Given the description of an element on the screen output the (x, y) to click on. 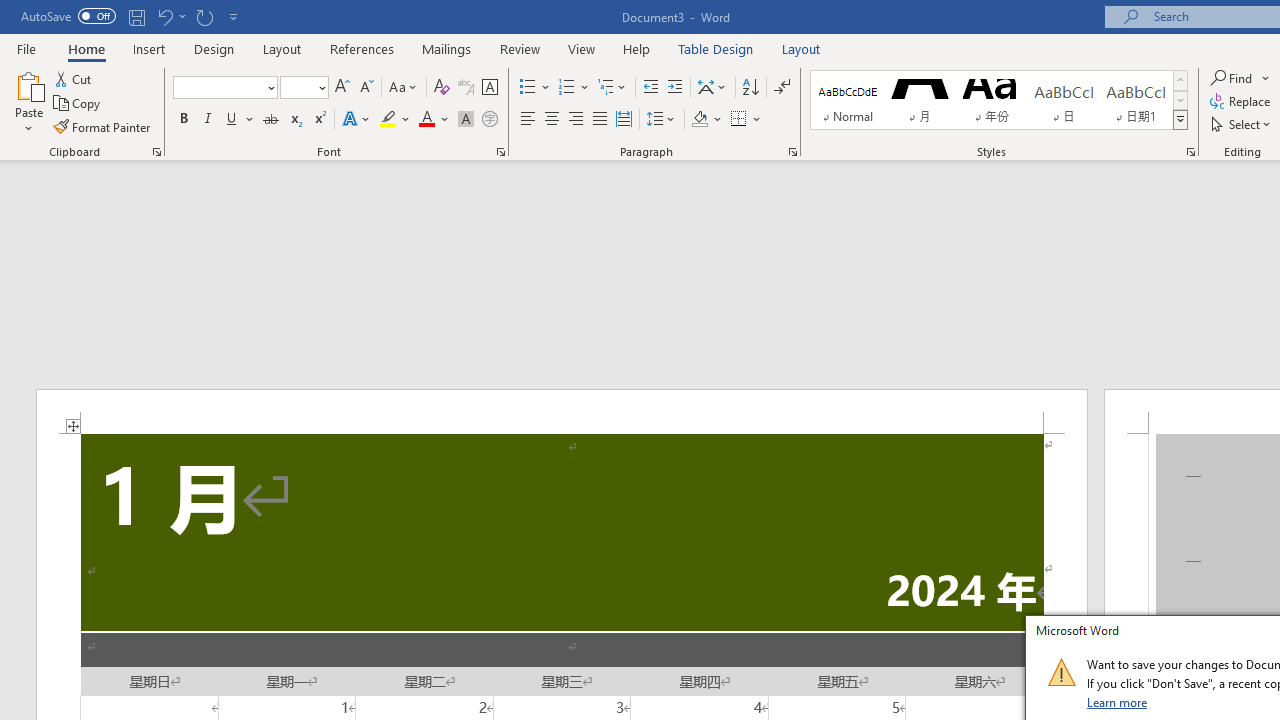
Increase Indent (675, 87)
Enclose Characters... (489, 119)
Clear Formatting (442, 87)
Subscript (294, 119)
Shrink Font (365, 87)
Character Shading (465, 119)
Replace... (1242, 101)
Justify (599, 119)
Change Case (404, 87)
AutomationID: QuickStylesGallery (999, 99)
Shading (706, 119)
